Given the description of an element on the screen output the (x, y) to click on. 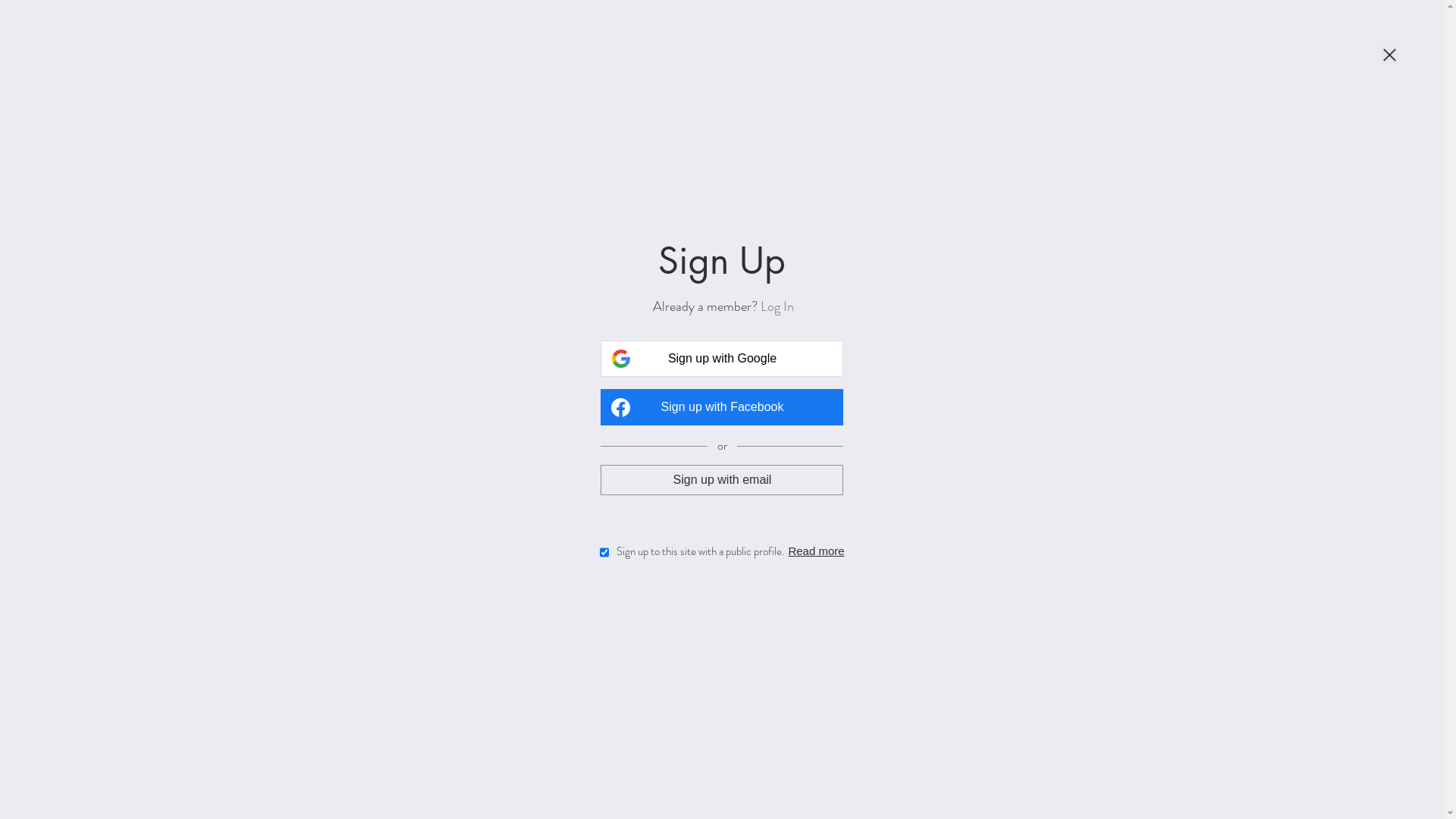
Sign up with Facebook Element type: text (721, 407)
Log In Element type: text (776, 306)
Read more Element type: text (815, 550)
Sign up with Google Element type: text (721, 358)
Sign up with email Element type: text (721, 479)
